Given the description of an element on the screen output the (x, y) to click on. 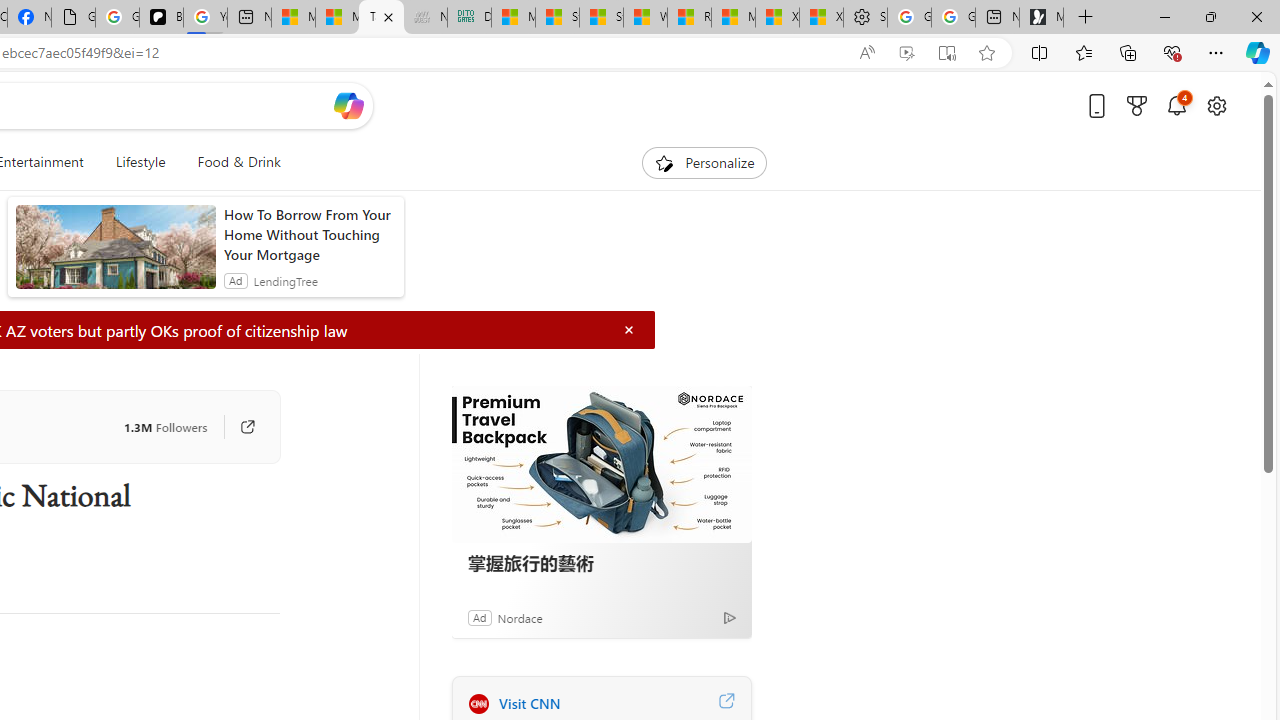
Enhance video (906, 53)
Open settings (1216, 105)
Navy Quest (425, 17)
Ad Choice (729, 616)
Microsoft rewards (1137, 105)
Be Smart | creating Science videos | Patreon (161, 17)
Lifestyle (139, 162)
Ad (479, 617)
Notifications (1176, 105)
